Given the description of an element on the screen output the (x, y) to click on. 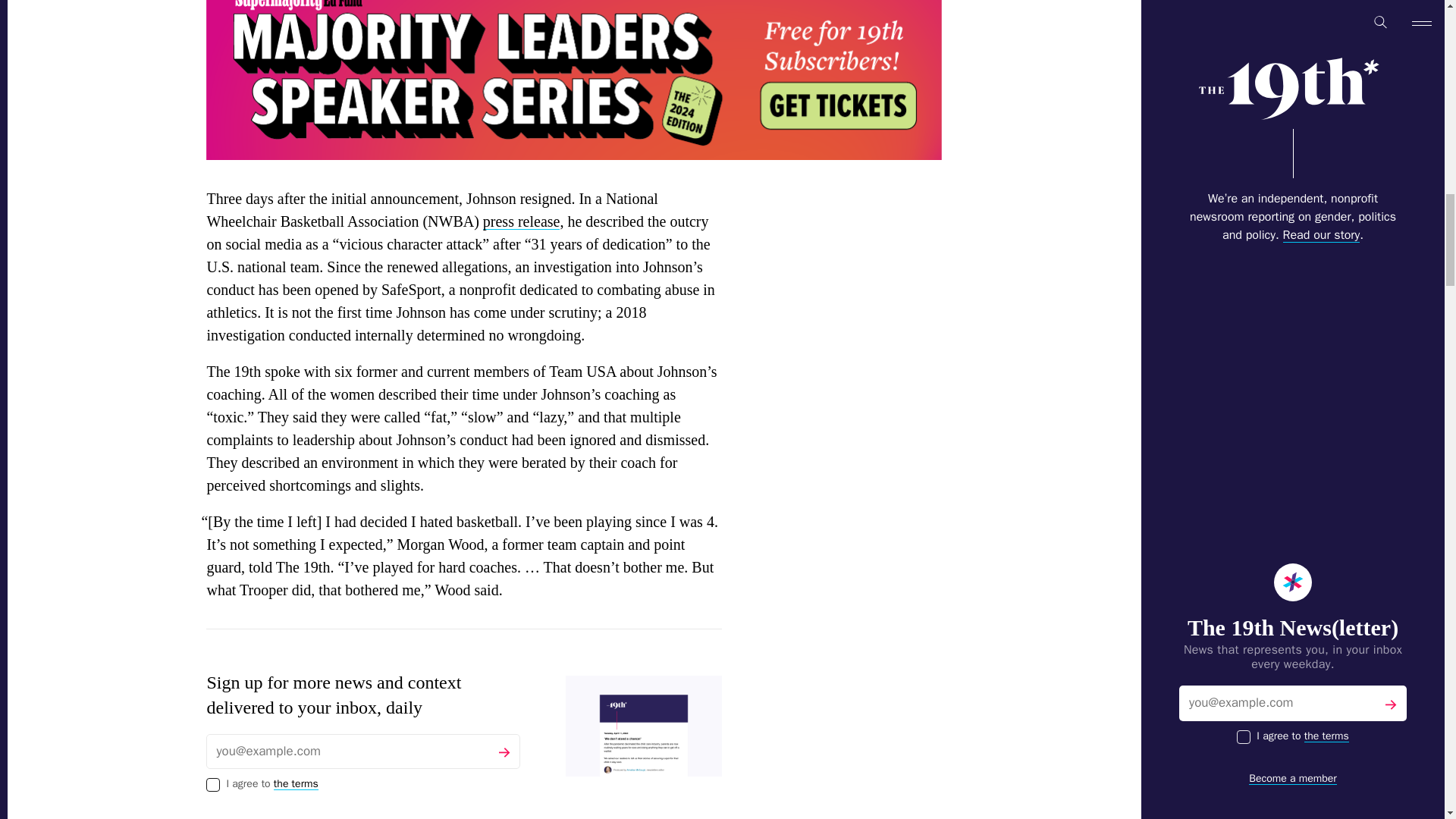
on (212, 784)
Speaker Series 970x250 (574, 79)
